Given the description of an element on the screen output the (x, y) to click on. 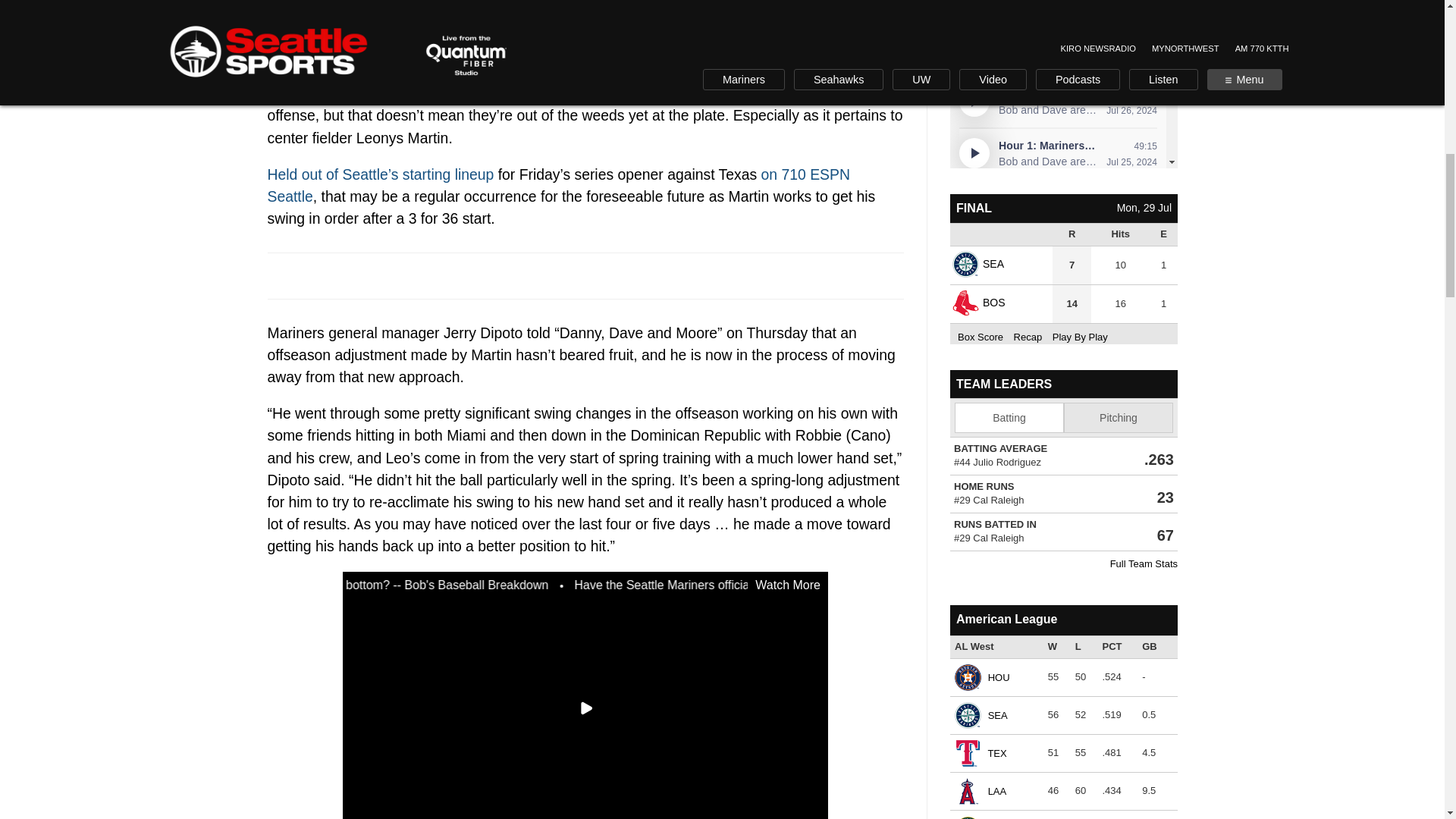
widget (1062, 474)
widget (1062, 712)
widget (1062, 268)
